Given the description of an element on the screen output the (x, y) to click on. 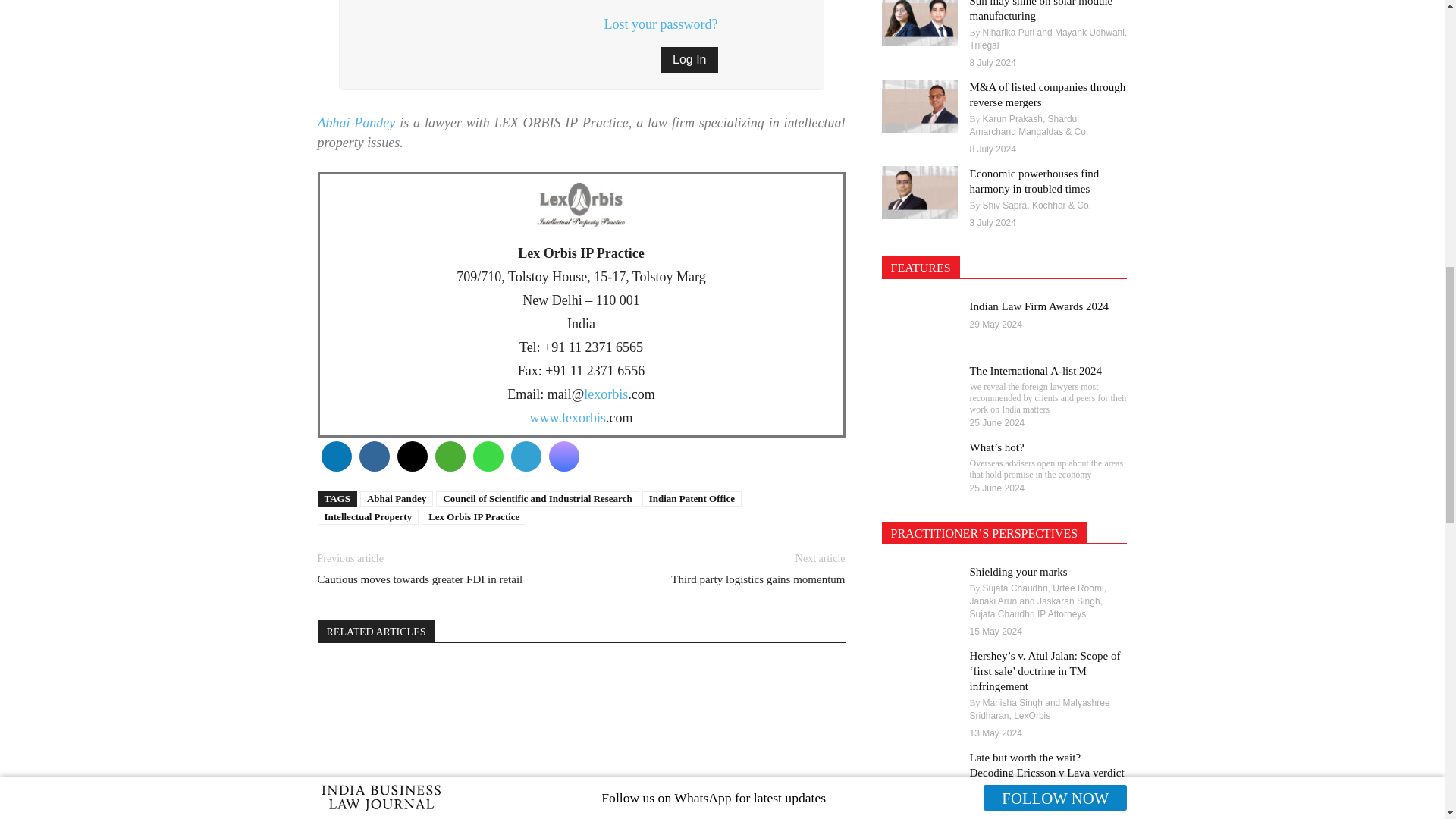
Log In (689, 59)
Twitter (411, 456)
Whatsapp (487, 456)
Telegram (525, 456)
LinkedIn (335, 456)
Facebook (373, 456)
